Given the description of an element on the screen output the (x, y) to click on. 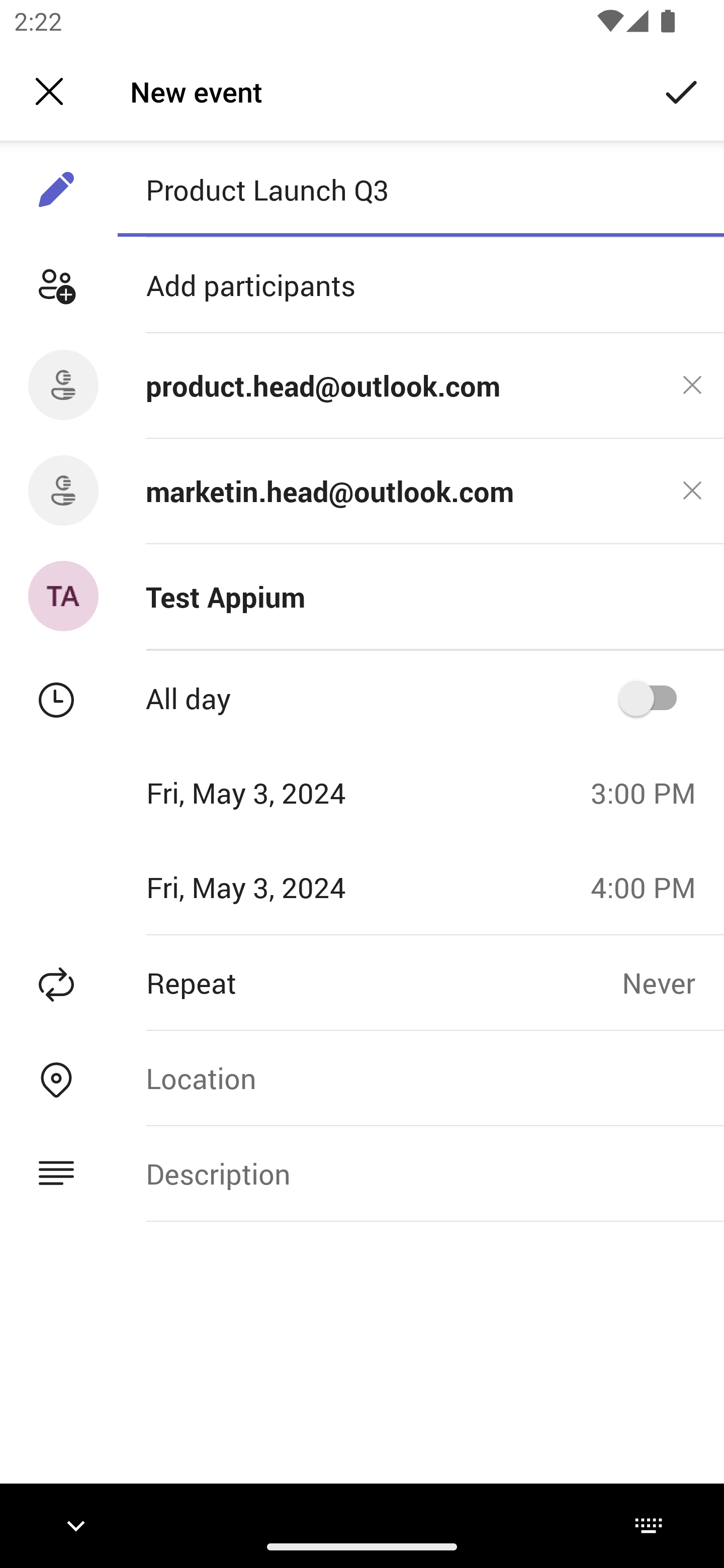
Back (49, 91)
Send invite (681, 90)
Product Launch Q3 (420, 189)
Add participants Add participants option (362, 285)
product.head@outlook.com, remove participant (692, 384)
marketin.head@outlook.com, remove participant (692, 490)
All day (654, 698)
Fri, May 3, 2024 Starts Friday May 03, 2024 (288, 792)
3:00 PM Start time 3:00 PM (650, 792)
Fri, May 3, 2024 Ends Friday May 03, 2024 (288, 887)
4:00 PM End time 4:00 PM (650, 887)
Repeat (310, 982)
Never Repeat Never (672, 982)
Location (420, 1077)
Description (420, 1173)
